Given the description of an element on the screen output the (x, y) to click on. 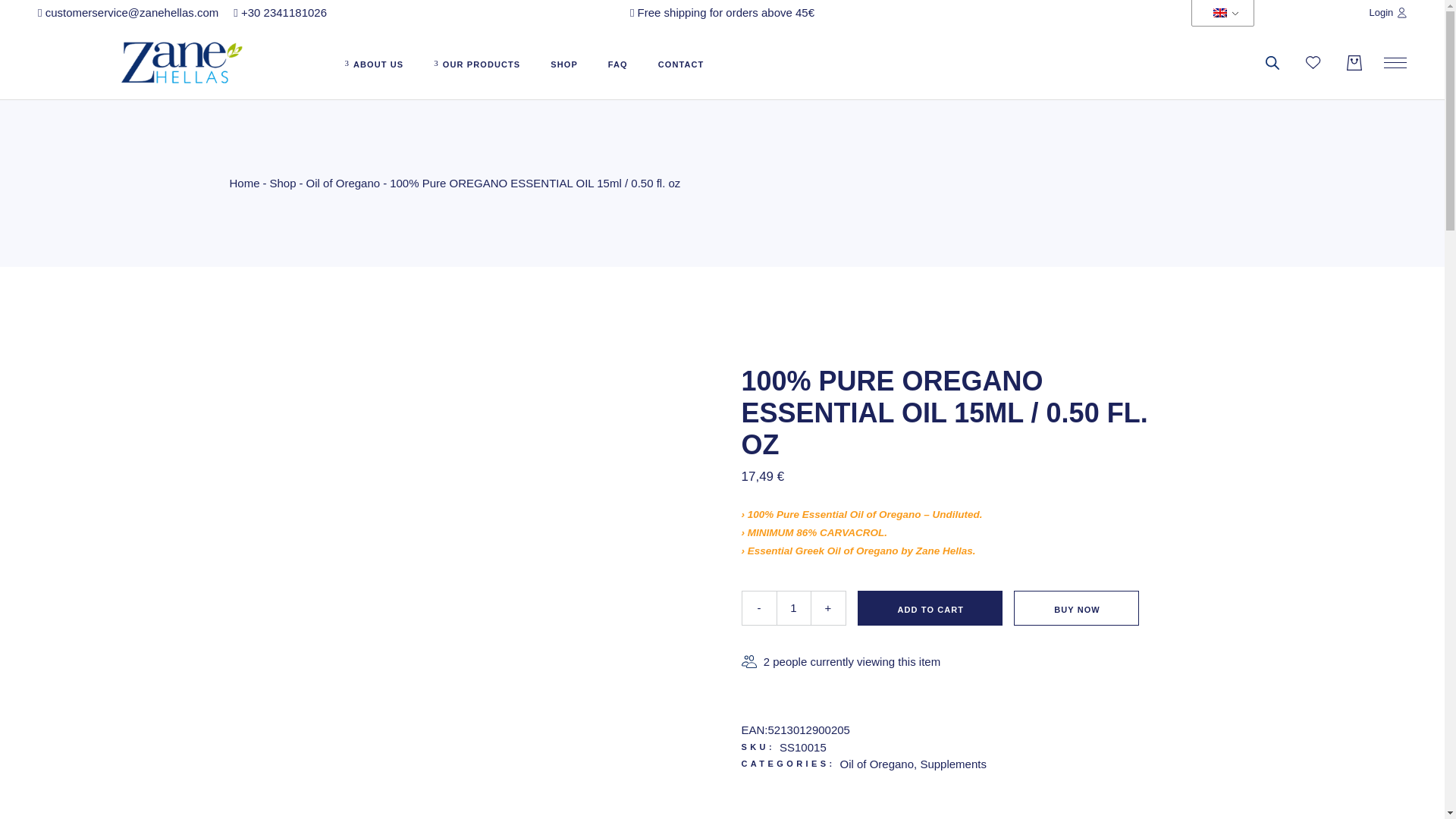
Login (1388, 12)
Qty (793, 607)
Zane Hellas (798, 801)
1 (793, 607)
English (1219, 12)
OUR PRODUCTS (476, 62)
English (1219, 11)
